Given the description of an element on the screen output the (x, y) to click on. 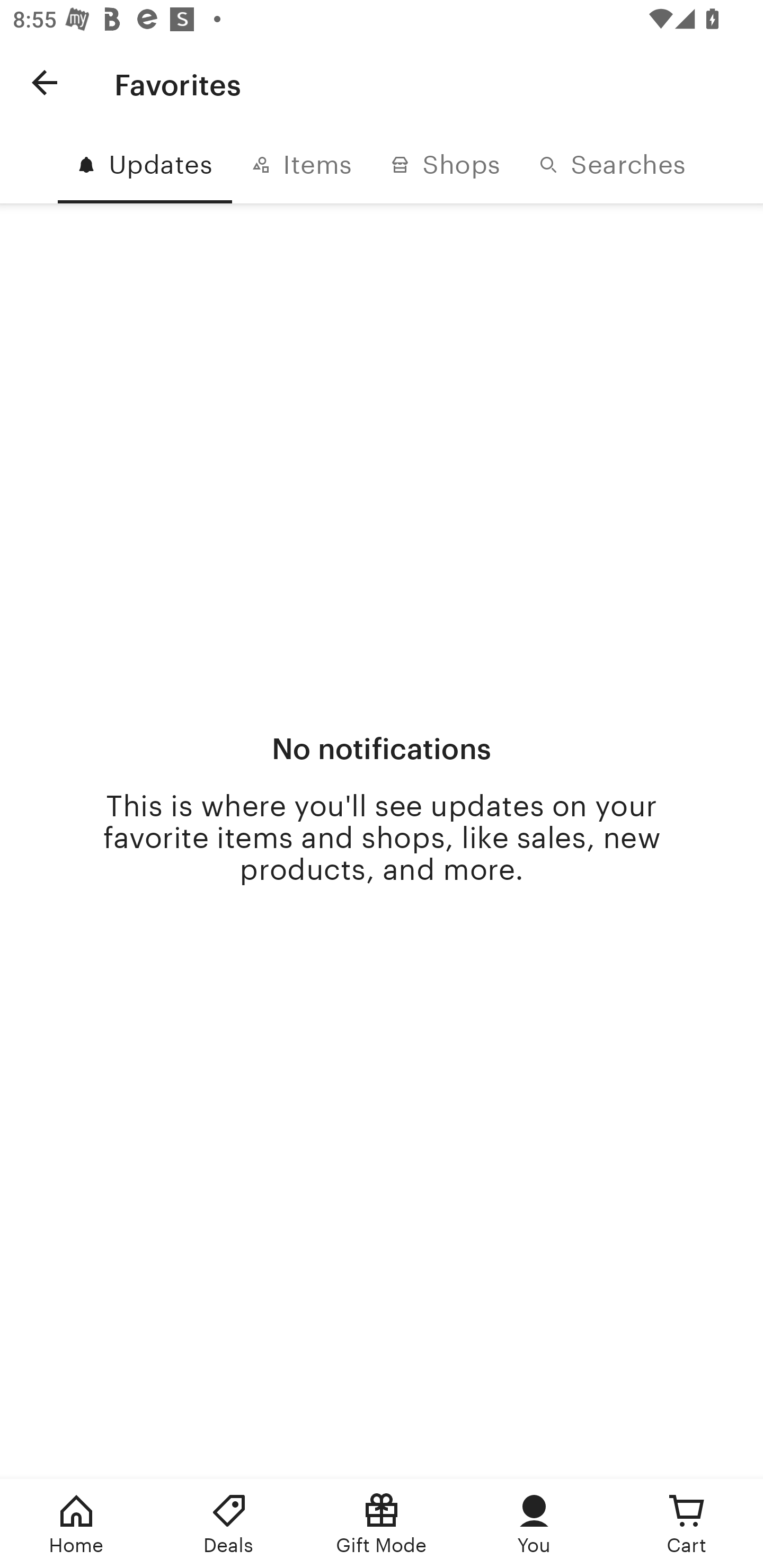
Navigate up (44, 82)
Items, tab 2 of 4 Items (301, 165)
Shops, tab 3 of 4 Shops (445, 165)
Searches, tab 4 of 4 Searches (612, 165)
Home (76, 1523)
Deals (228, 1523)
Gift Mode (381, 1523)
Cart (686, 1523)
